Given the description of an element on the screen output the (x, y) to click on. 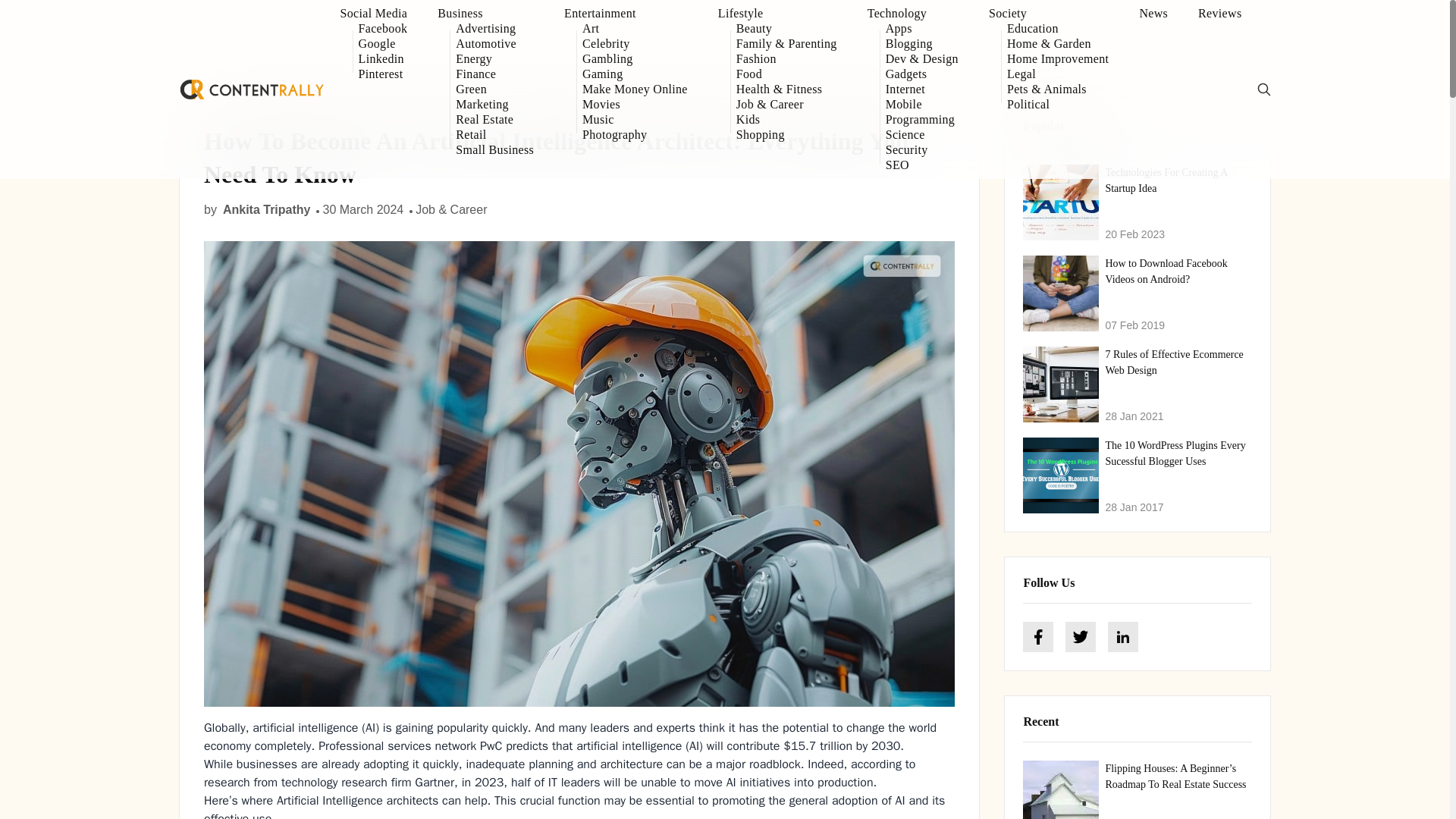
Technology (912, 13)
Real Estate (494, 119)
Finance (494, 73)
Kids (786, 119)
Marketing (494, 104)
Gambling (634, 58)
Photography (634, 134)
Fashion (786, 58)
Gadgets (921, 73)
Pinterest (382, 73)
Music (634, 119)
Food (786, 73)
Social Media (373, 13)
Movies (634, 104)
Green (494, 89)
